Given the description of an element on the screen output the (x, y) to click on. 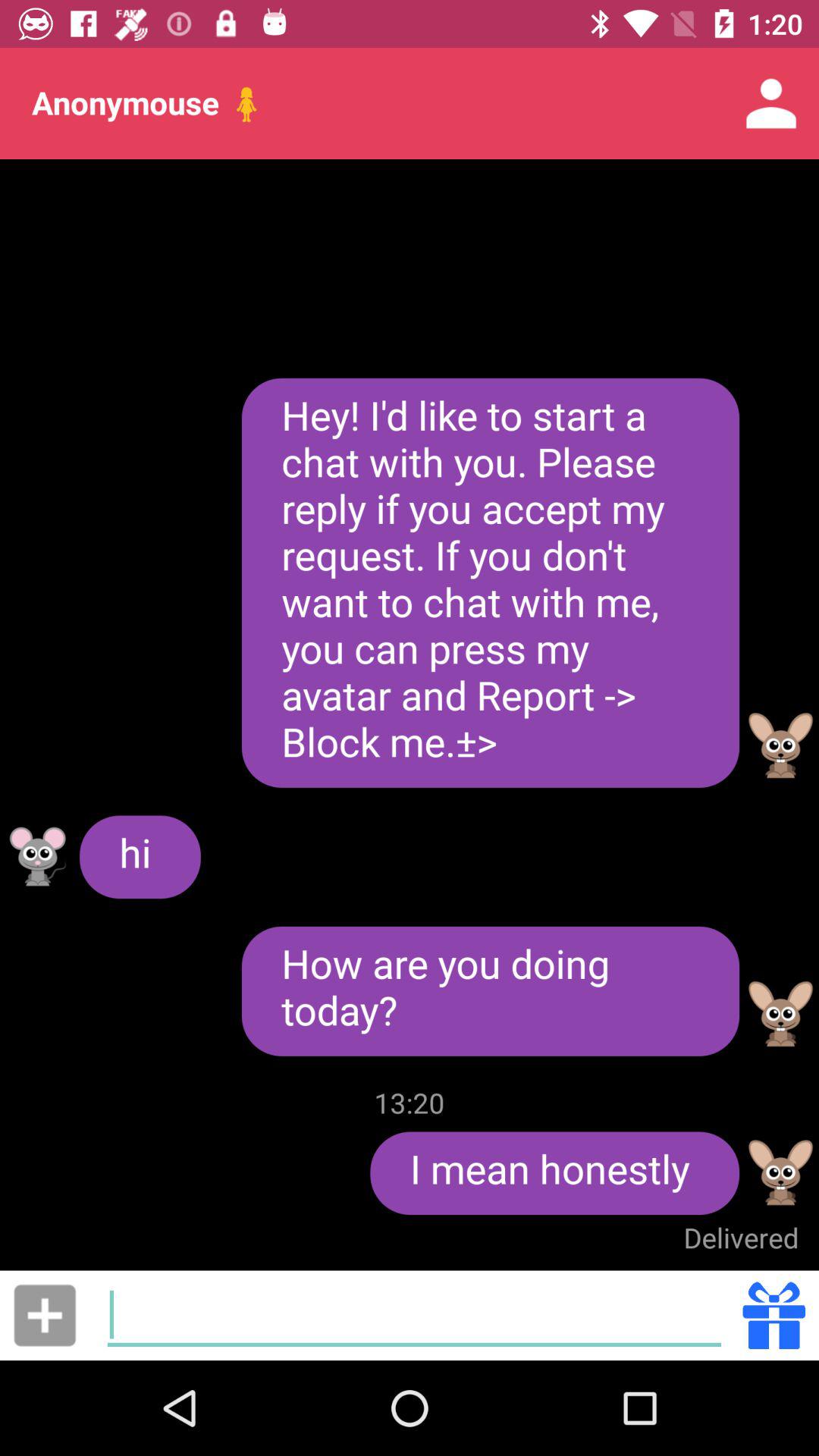
turn on hey i d at the center (490, 582)
